Given the description of an element on the screen output the (x, y) to click on. 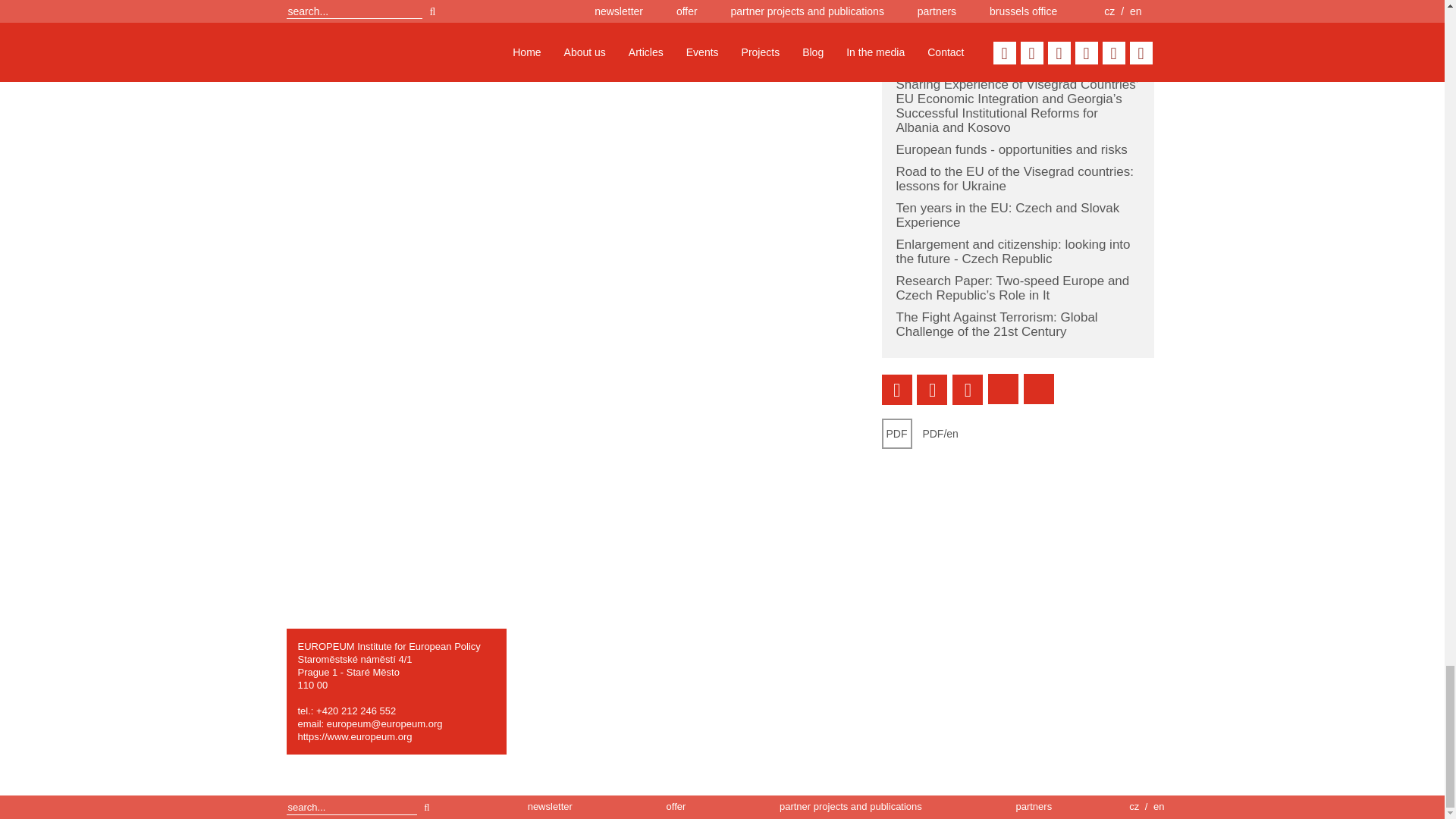
newsletter (549, 806)
